Given the description of an element on the screen output the (x, y) to click on. 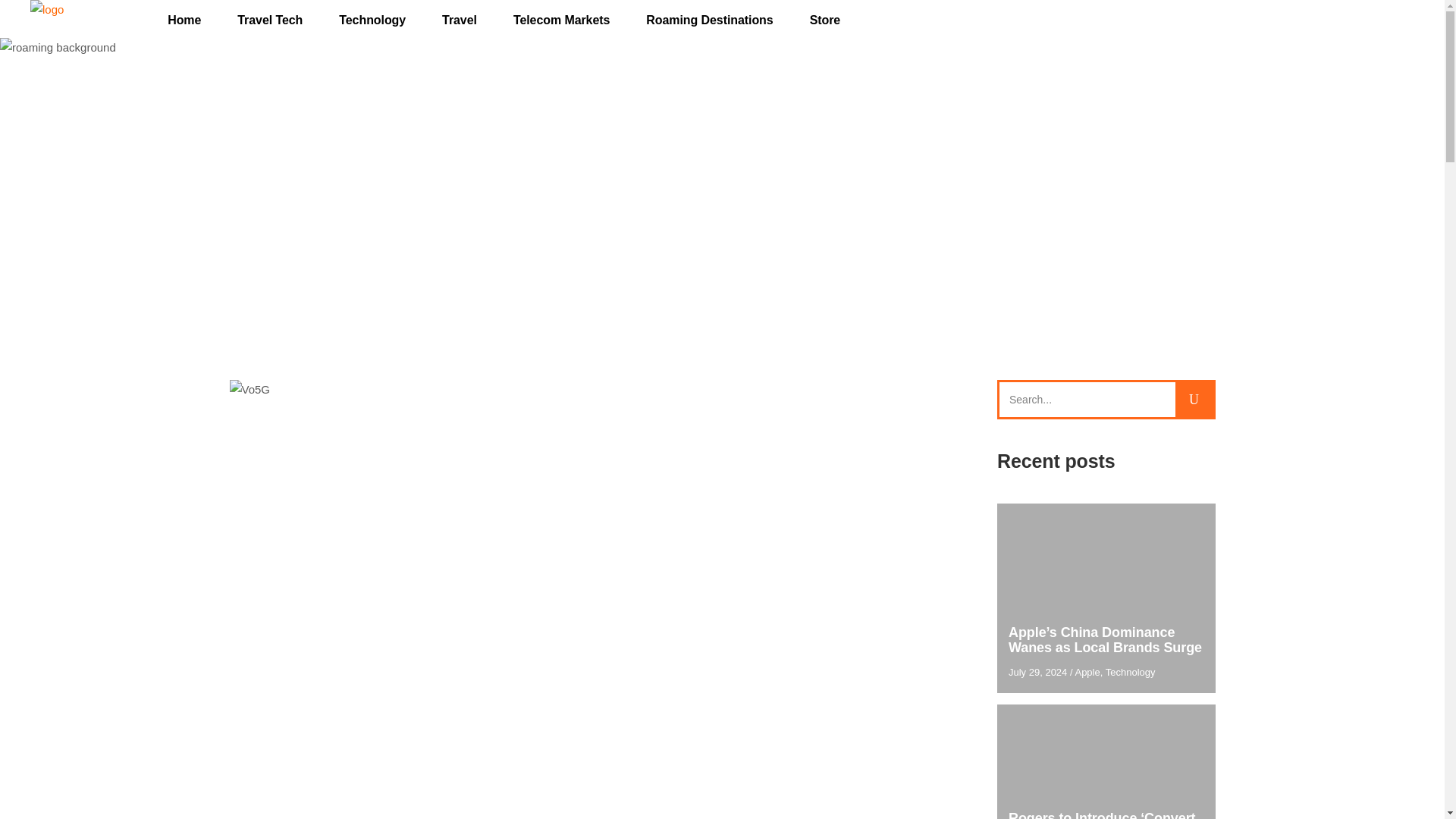
Technology (371, 19)
Travel Tech (269, 19)
Store (825, 19)
Telecom Markets (561, 19)
Travel (459, 19)
Home (184, 19)
Roaming Destinations (708, 19)
